Given the description of an element on the screen output the (x, y) to click on. 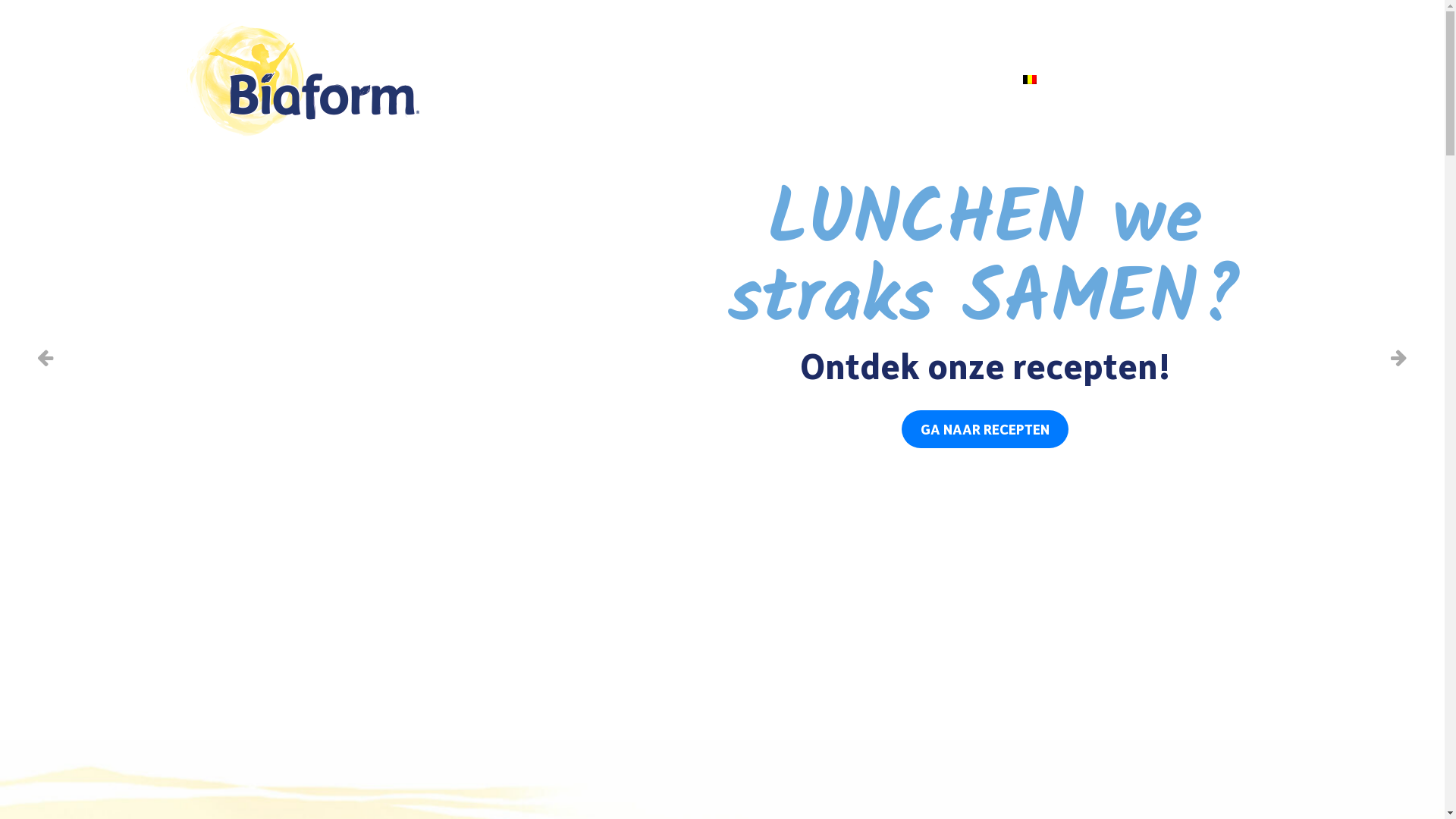
search Element type: text (1163, 77)
NL Element type: text (1048, 77)
Menu Element type: text (1227, 77)
CHECK ONZE BLOG Element type: text (486, 373)
instagram Element type: text (1117, 78)
